Given the description of an element on the screen output the (x, y) to click on. 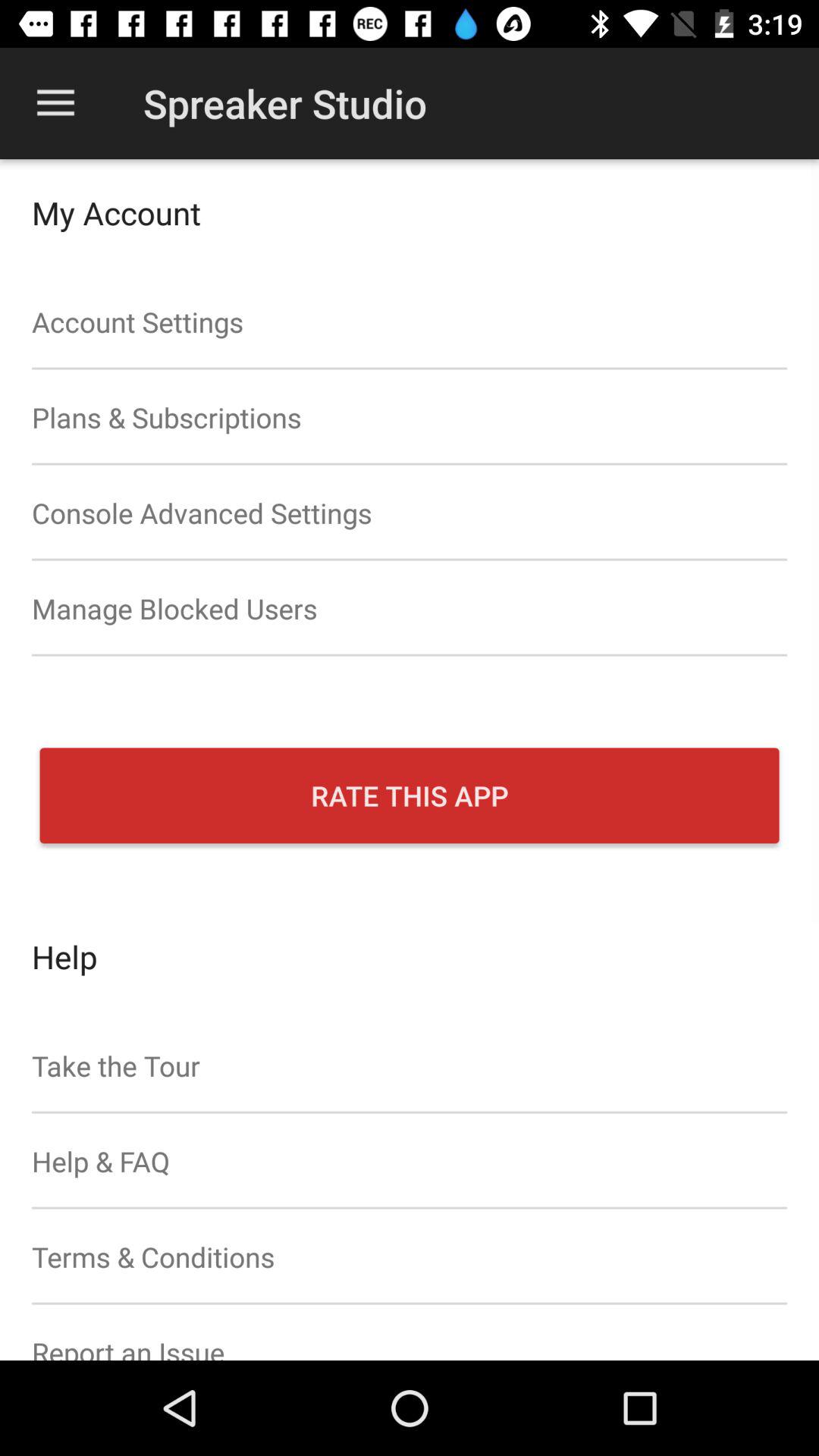
turn on the icon below help & faq (409, 1256)
